Given the description of an element on the screen output the (x, y) to click on. 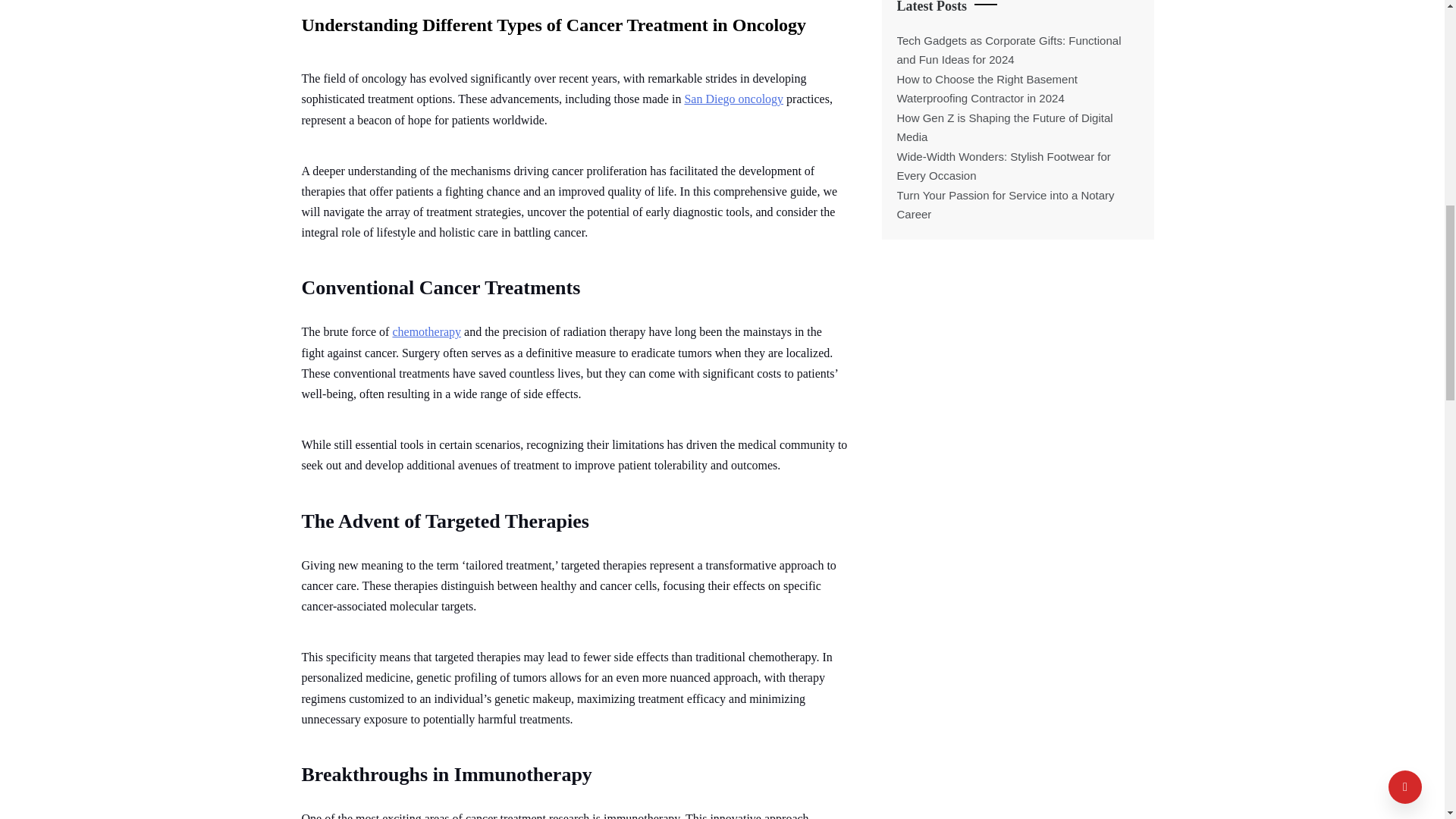
How Gen Z is Shaping the Future of Digital Media (1004, 127)
chemotherapy (426, 331)
San Diego oncology (733, 98)
Turn Your Passion for Service into a Notary Career (1004, 205)
Wide-Width Wonders: Stylish Footwear for Every Occasion (1002, 165)
